Given the description of an element on the screen output the (x, y) to click on. 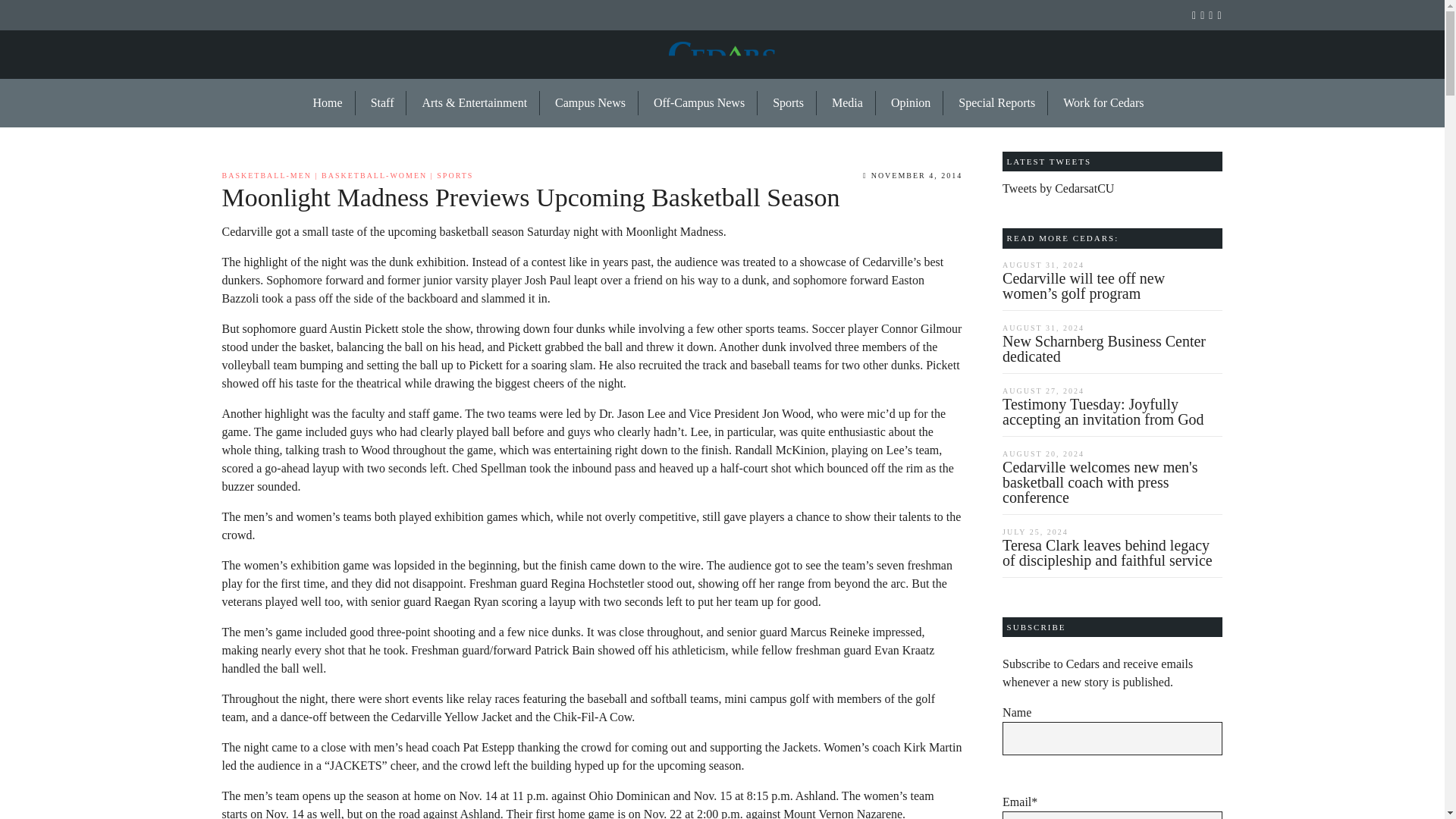
Work for Cedars (1096, 102)
Campus News (591, 102)
Staff (382, 102)
Off-Campus News (699, 102)
Opinion (911, 102)
Special Reports (997, 102)
Home (328, 102)
Media (847, 102)
Sports (788, 102)
